Given the description of an element on the screen output the (x, y) to click on. 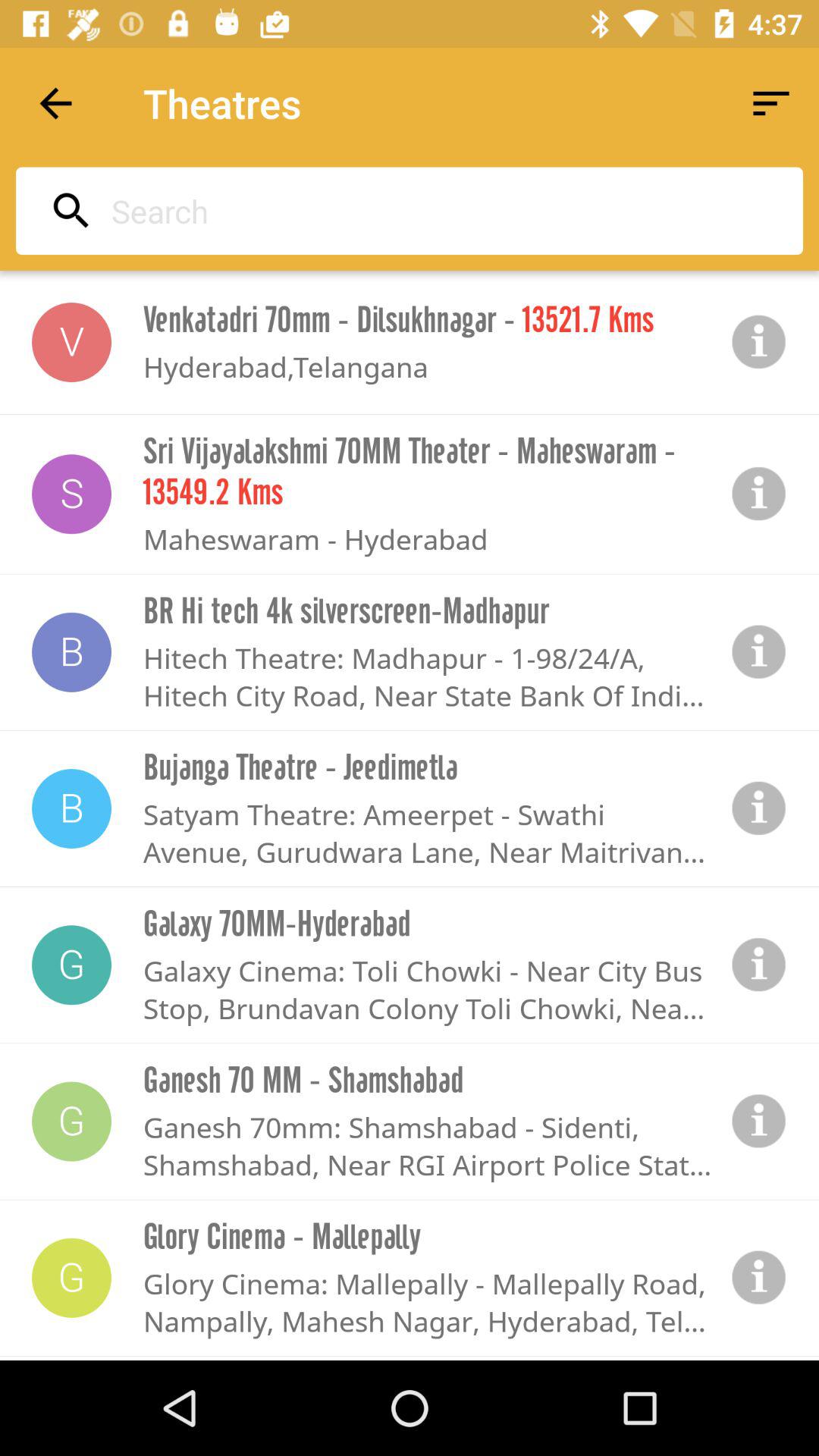
information (759, 342)
